Given the description of an element on the screen output the (x, y) to click on. 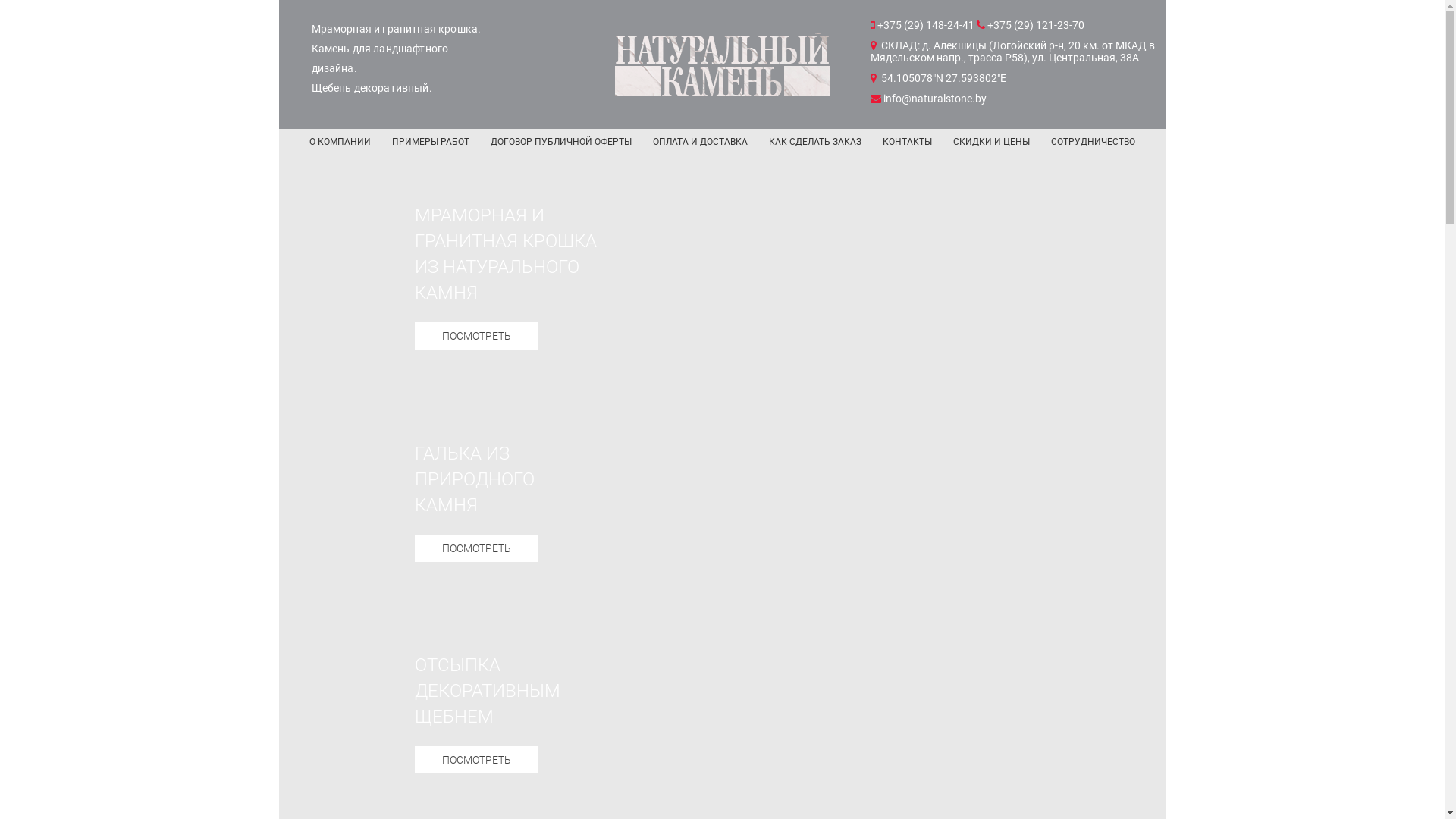
+375 (29) 121-23-70 Element type: text (1030, 24)
+375 (29) 148-24-41 Element type: text (923, 24)
info@naturalstone.by Element type: text (928, 98)
